Given the description of an element on the screen output the (x, y) to click on. 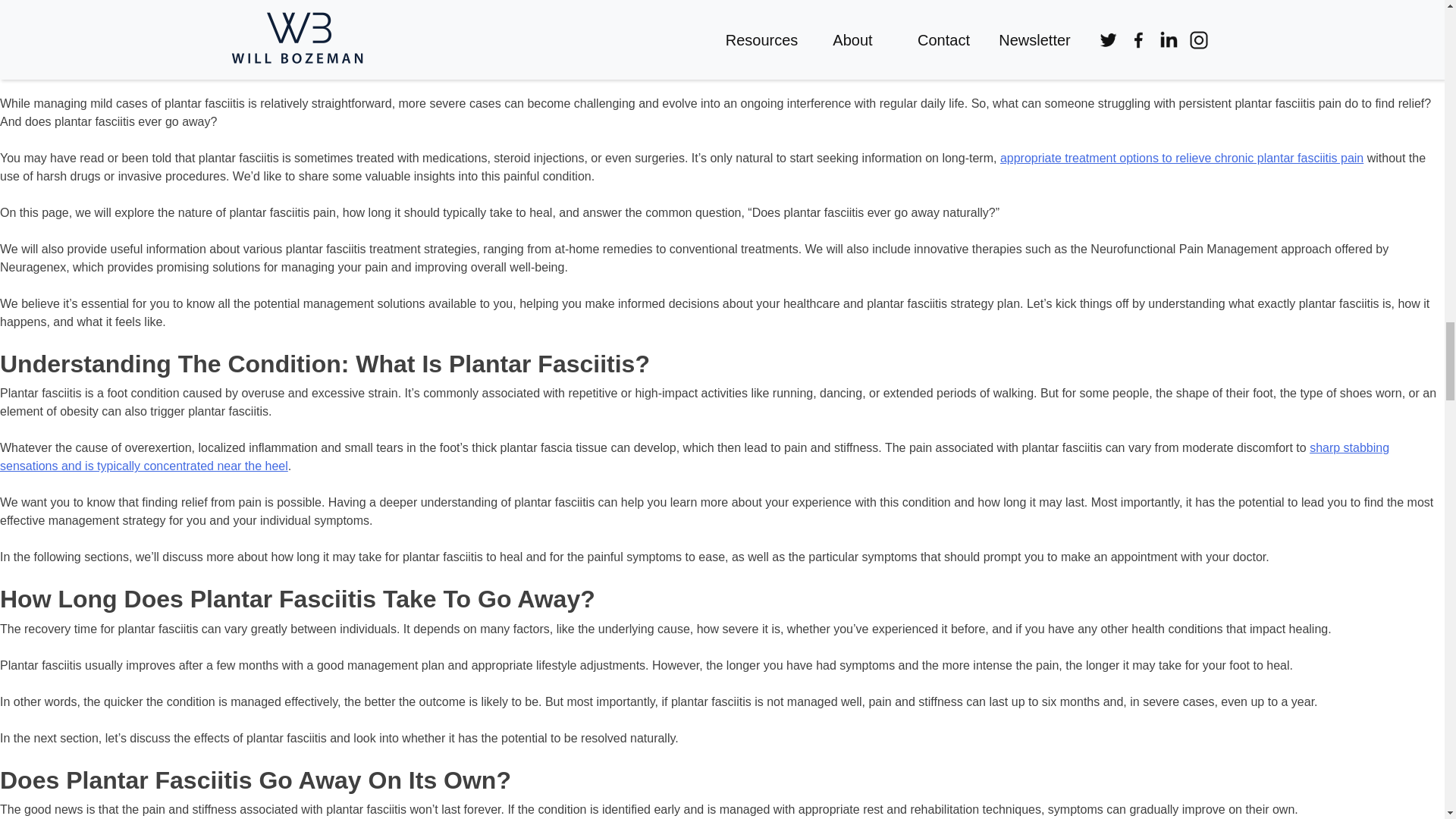
plantar fasciitis (393, 66)
